Given the description of an element on the screen output the (x, y) to click on. 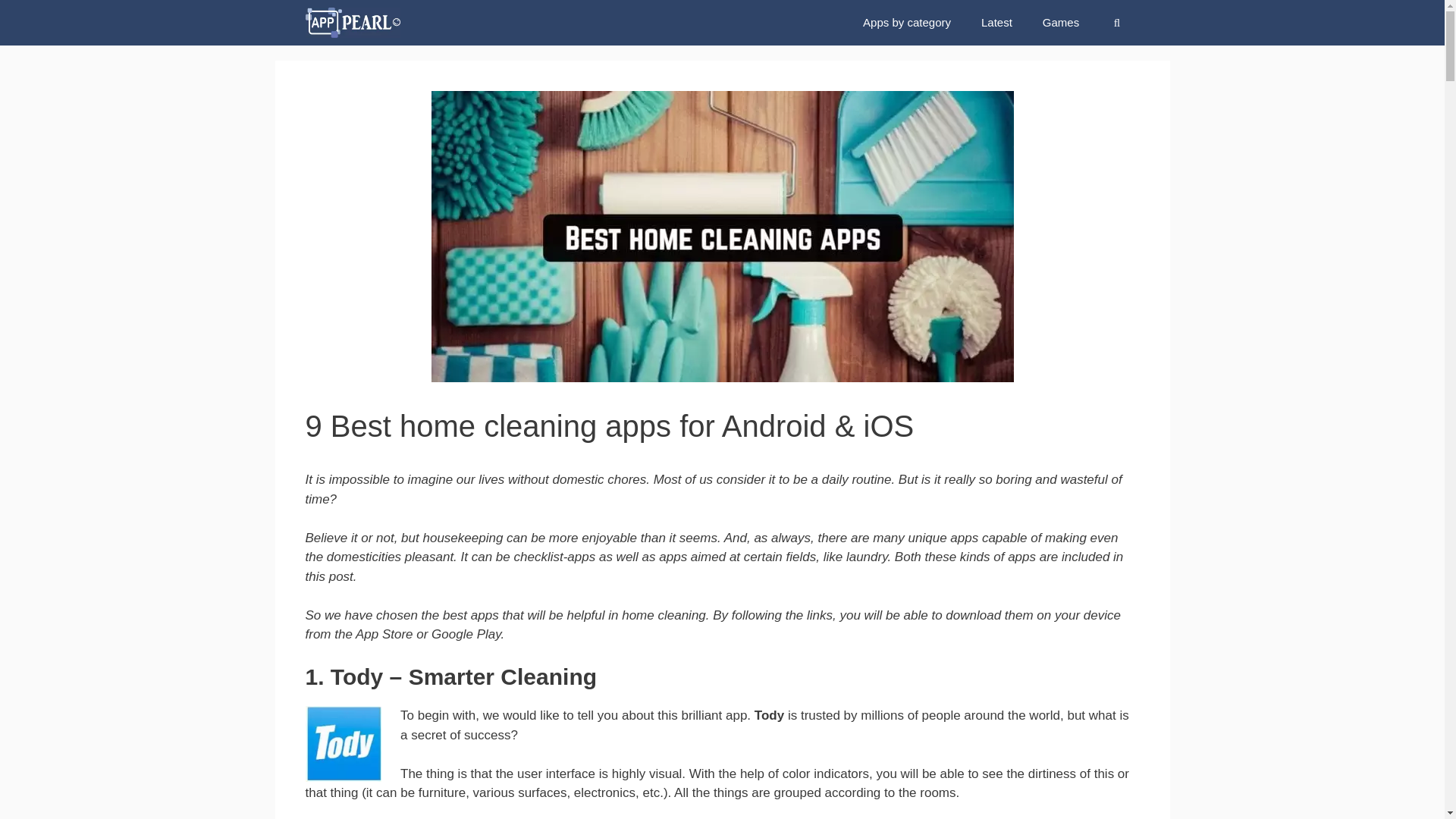
Apps by category (906, 22)
Latest (996, 22)
Games (1060, 22)
